Given the description of an element on the screen output the (x, y) to click on. 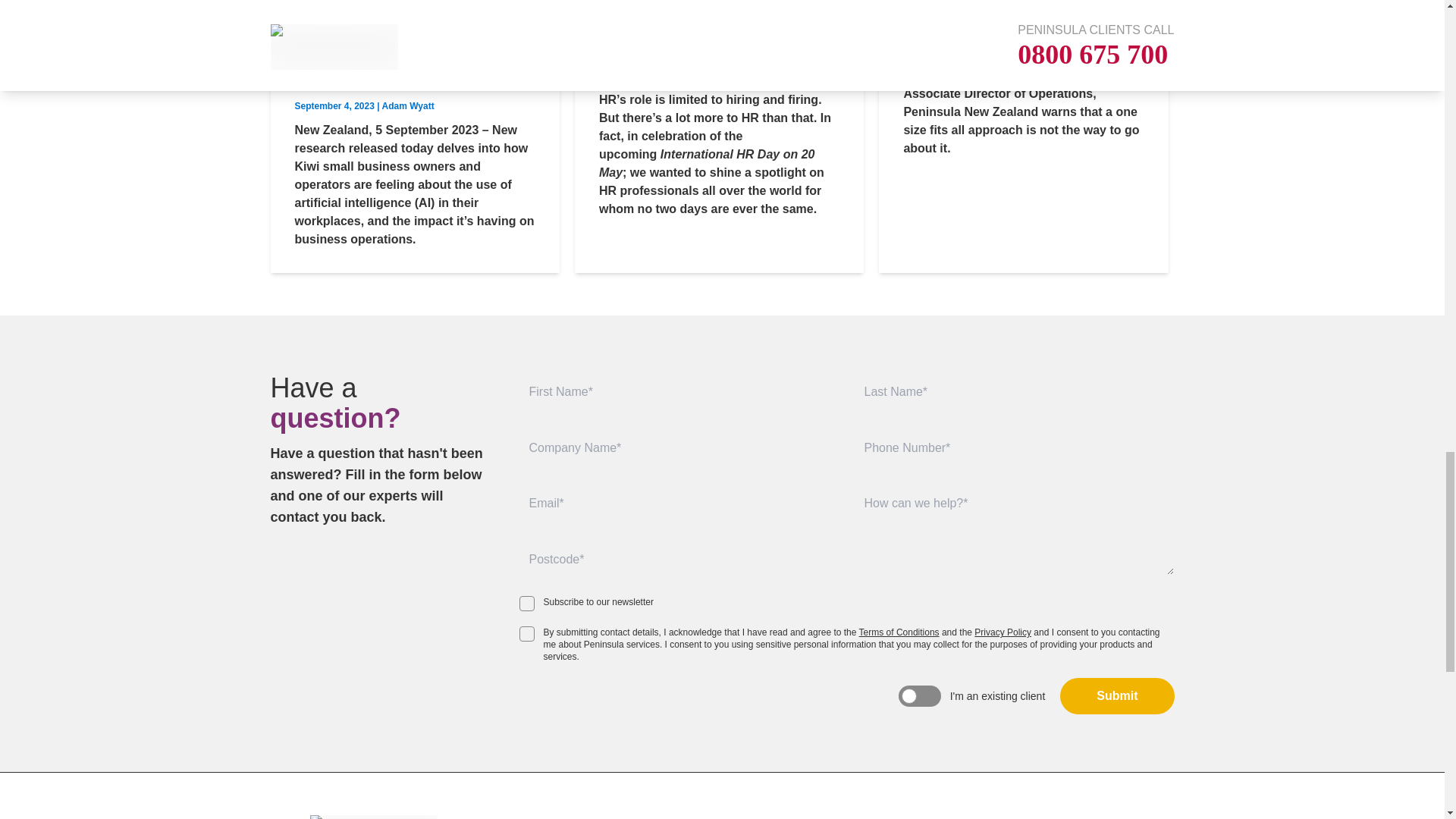
on (526, 603)
on (526, 633)
